Given the description of an element on the screen output the (x, y) to click on. 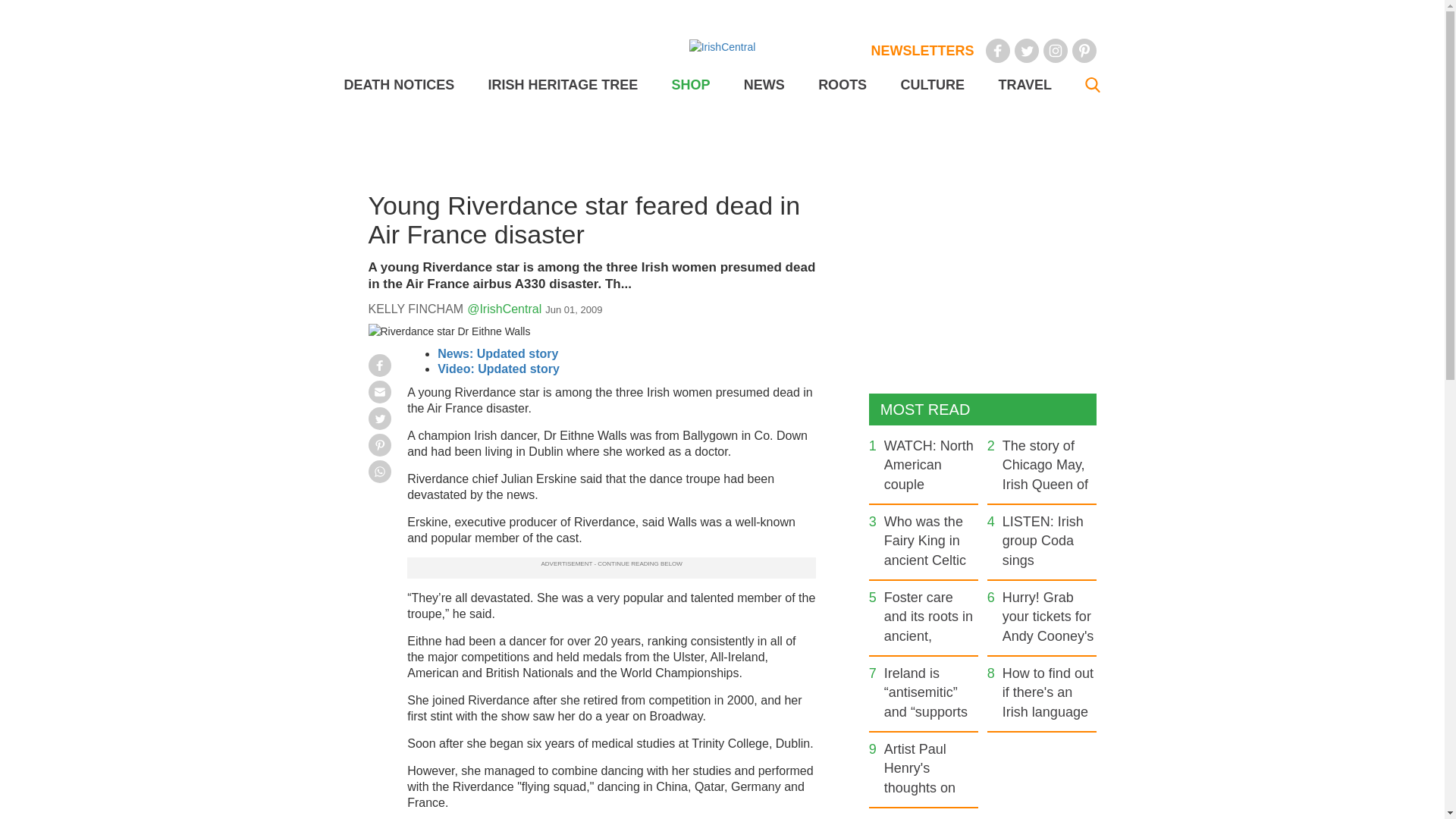
CULTURE (931, 84)
TRAVEL (1024, 84)
SHOP (690, 84)
ROOTS (842, 84)
NEWS (764, 84)
IRISH HERITAGE TREE (562, 84)
DEATH NOTICES (398, 84)
NEWSLETTERS (922, 50)
